Given the description of an element on the screen output the (x, y) to click on. 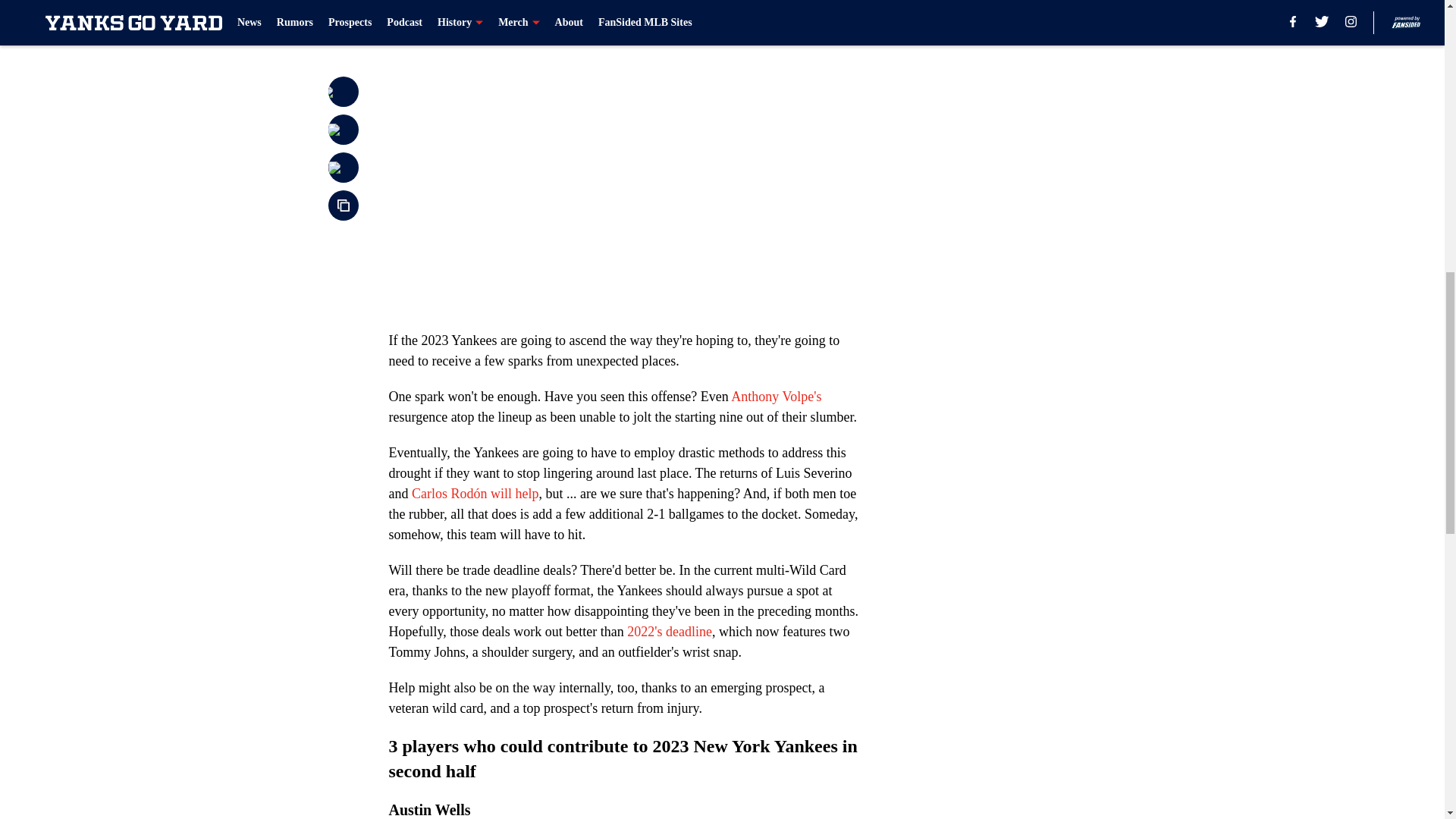
Prev (433, 20)
Anthony Volpe's (775, 396)
Next (813, 20)
2022's deadline (669, 631)
